Given the description of an element on the screen output the (x, y) to click on. 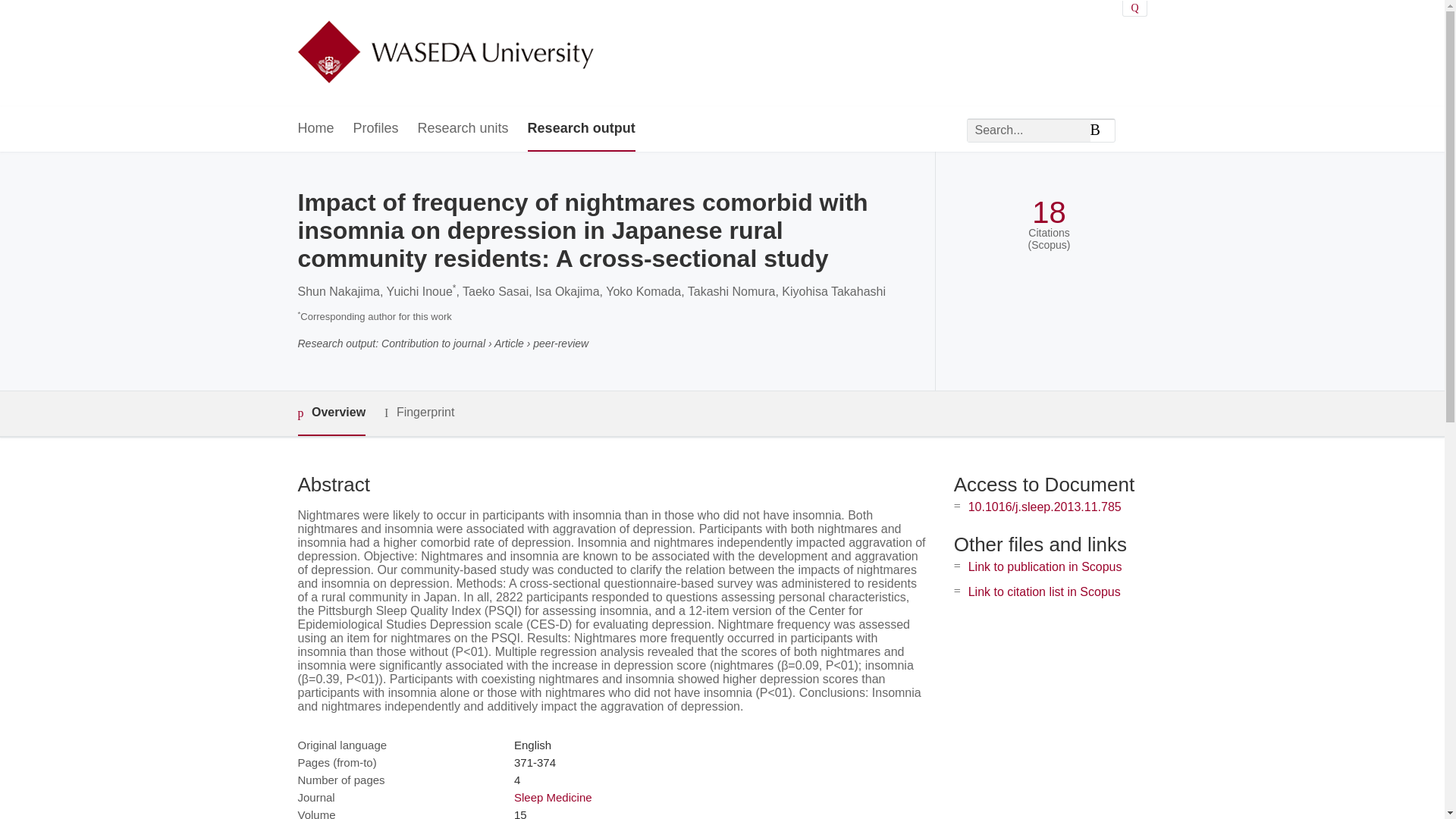
18 (1048, 212)
Home (315, 129)
Sleep Medicine (552, 797)
Link to publication in Scopus (1045, 566)
Fingerprint (419, 412)
Research output (580, 129)
Research units (462, 129)
Waseda University Home (444, 53)
Link to citation list in Scopus (1044, 591)
Overview (331, 413)
Profiles (375, 129)
